Given the description of an element on the screen output the (x, y) to click on. 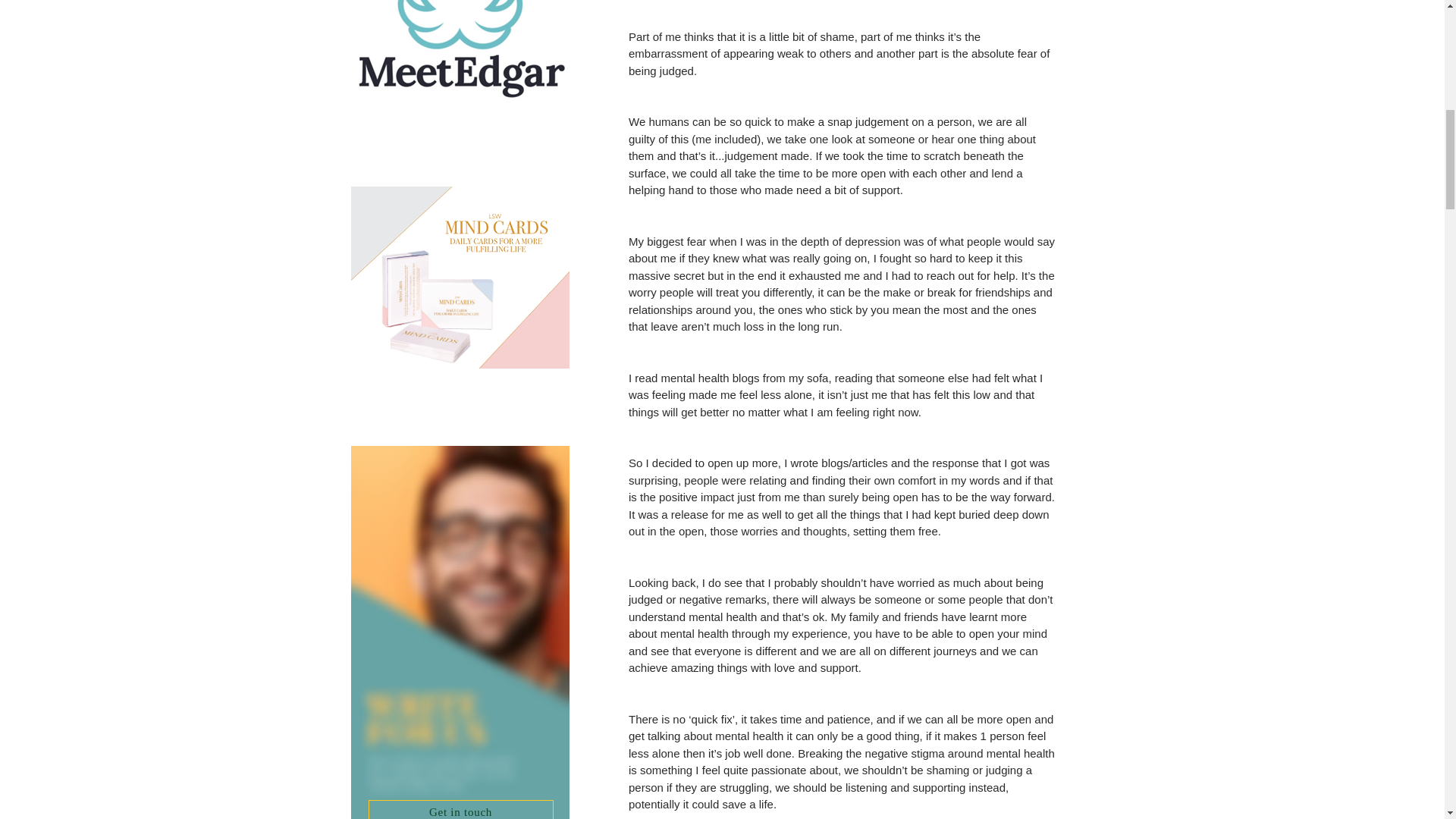
Get in touch (460, 809)
